Given the description of an element on the screen output the (x, y) to click on. 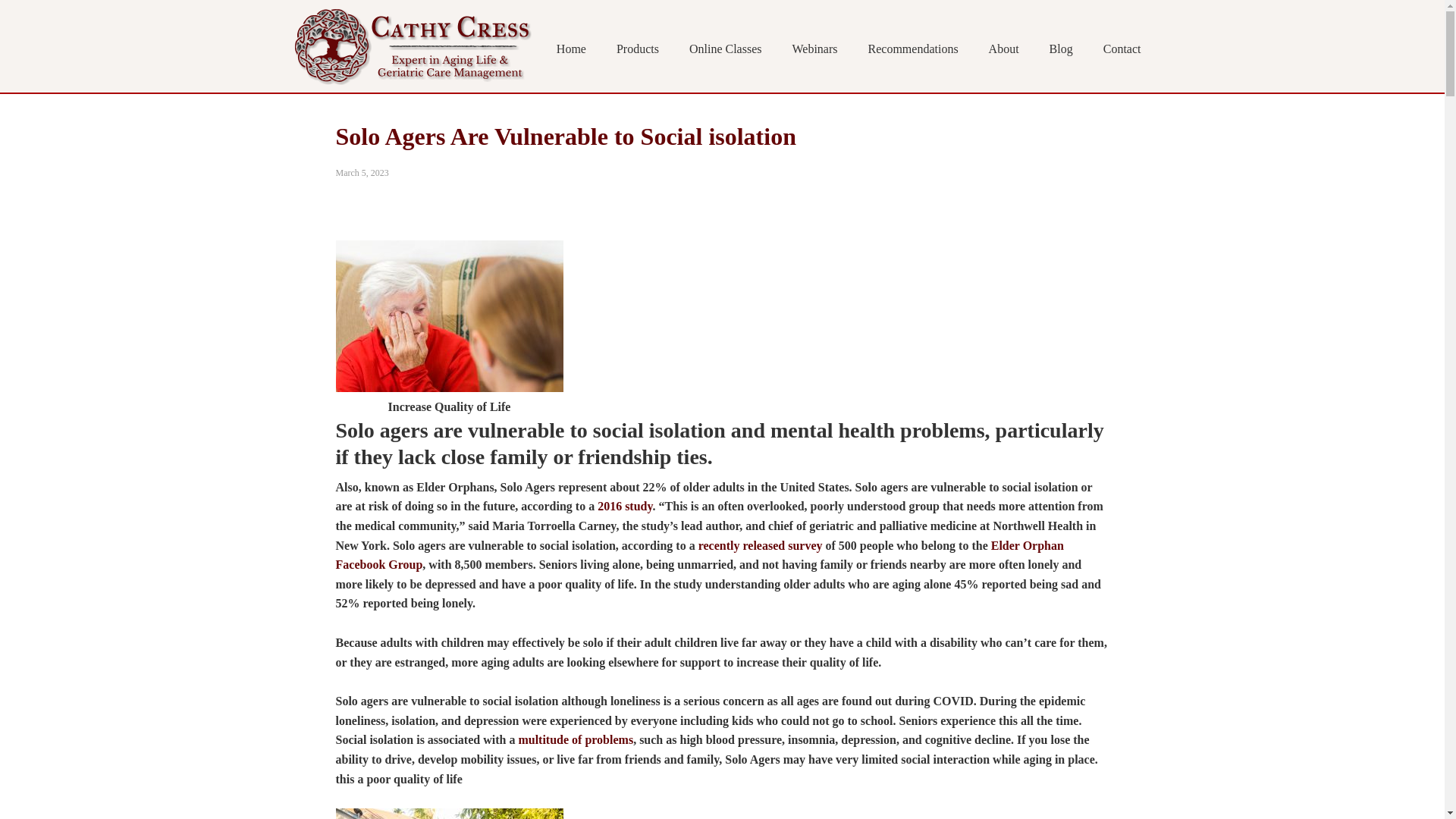
Cathy Cress (410, 45)
Recommendations (913, 49)
Products (637, 49)
Solo Agers Are Vulnerable to Social isolation (564, 135)
Online Classes (725, 49)
2016 study (624, 505)
recently released survey (760, 545)
multitude of problems (575, 739)
Elder Orphan Facebook Group (698, 554)
Webinars (813, 49)
